Given the description of an element on the screen output the (x, y) to click on. 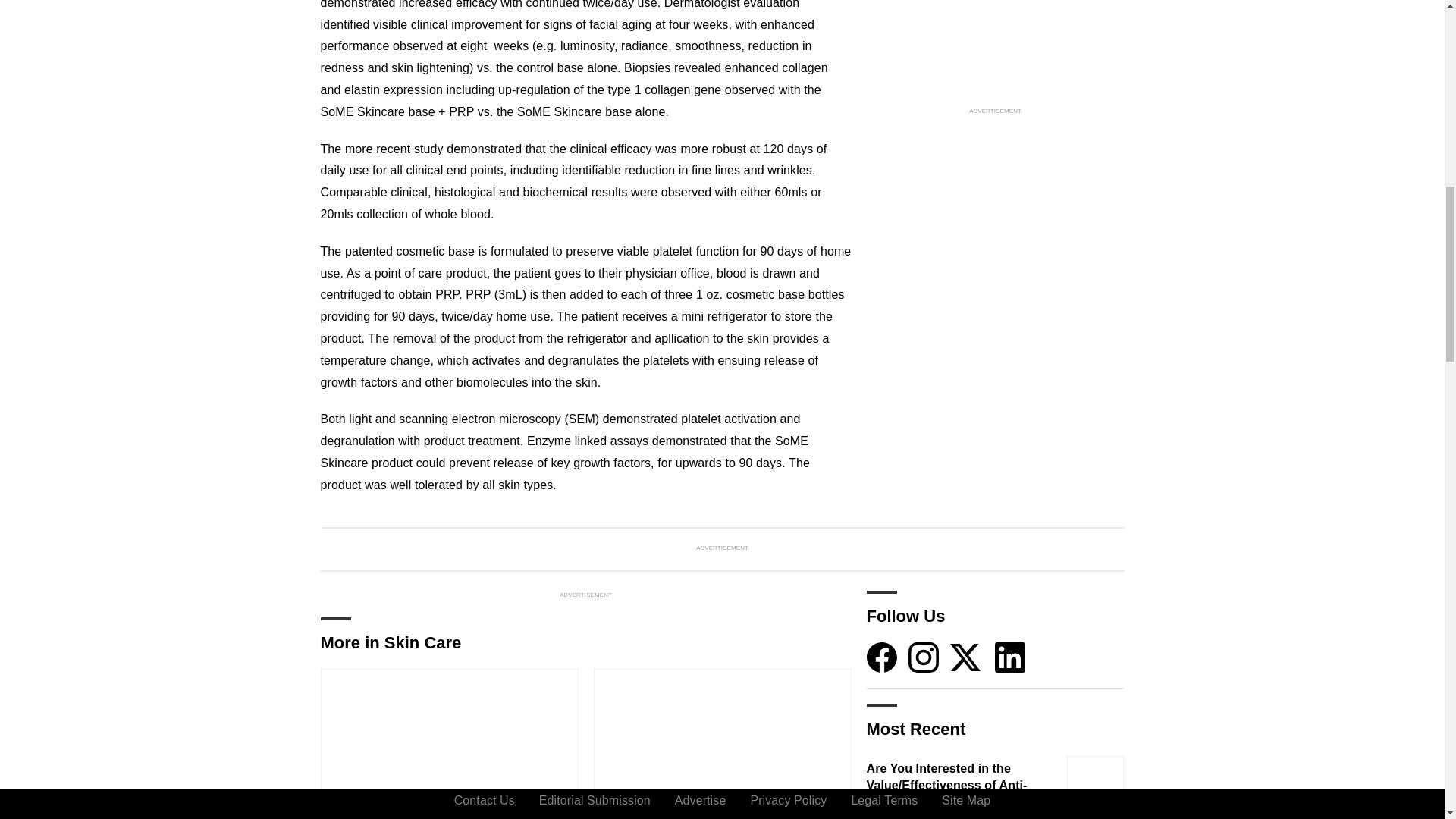
News (620, 812)
Facebook icon (881, 657)
LinkedIn icon (1009, 657)
Twitter X icon (964, 657)
Polls (348, 812)
Instagram icon (923, 657)
